Given the description of an element on the screen output the (x, y) to click on. 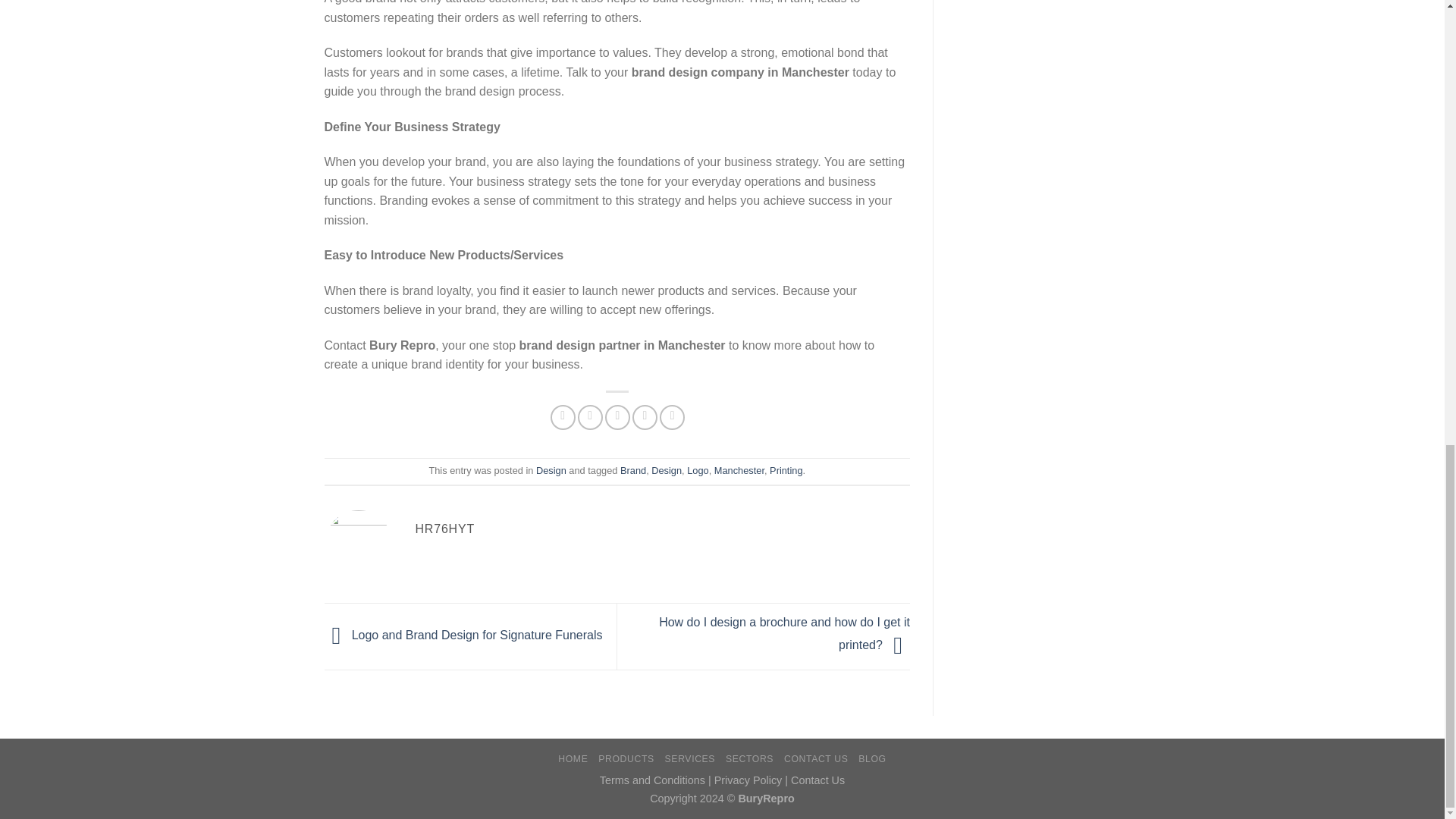
Pin on Pinterest (644, 416)
Share on Facebook (562, 416)
Share on Twitter (590, 416)
Email to a Friend (617, 416)
Share on LinkedIn (671, 416)
